Given the description of an element on the screen output the (x, y) to click on. 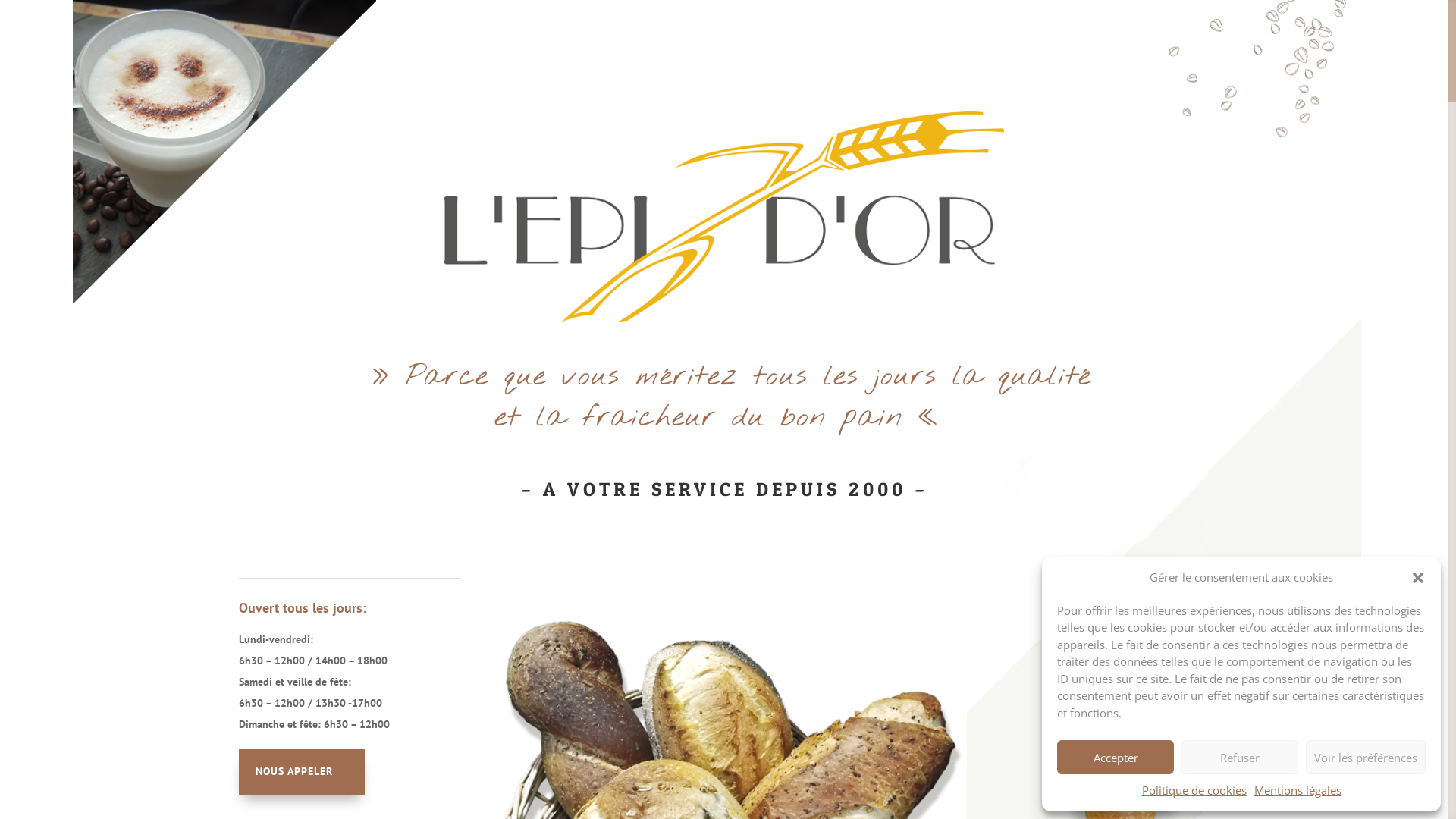
Accepter Element type: text (1115, 757)
NOUS APPELER Element type: text (301, 771)
Refuser Element type: text (1239, 757)
Politique de cookies Element type: text (1194, 790)
Logo-boulangerie-epi-or-grimisuat Element type: hover (724, 216)
